Given the description of an element on the screen output the (x, y) to click on. 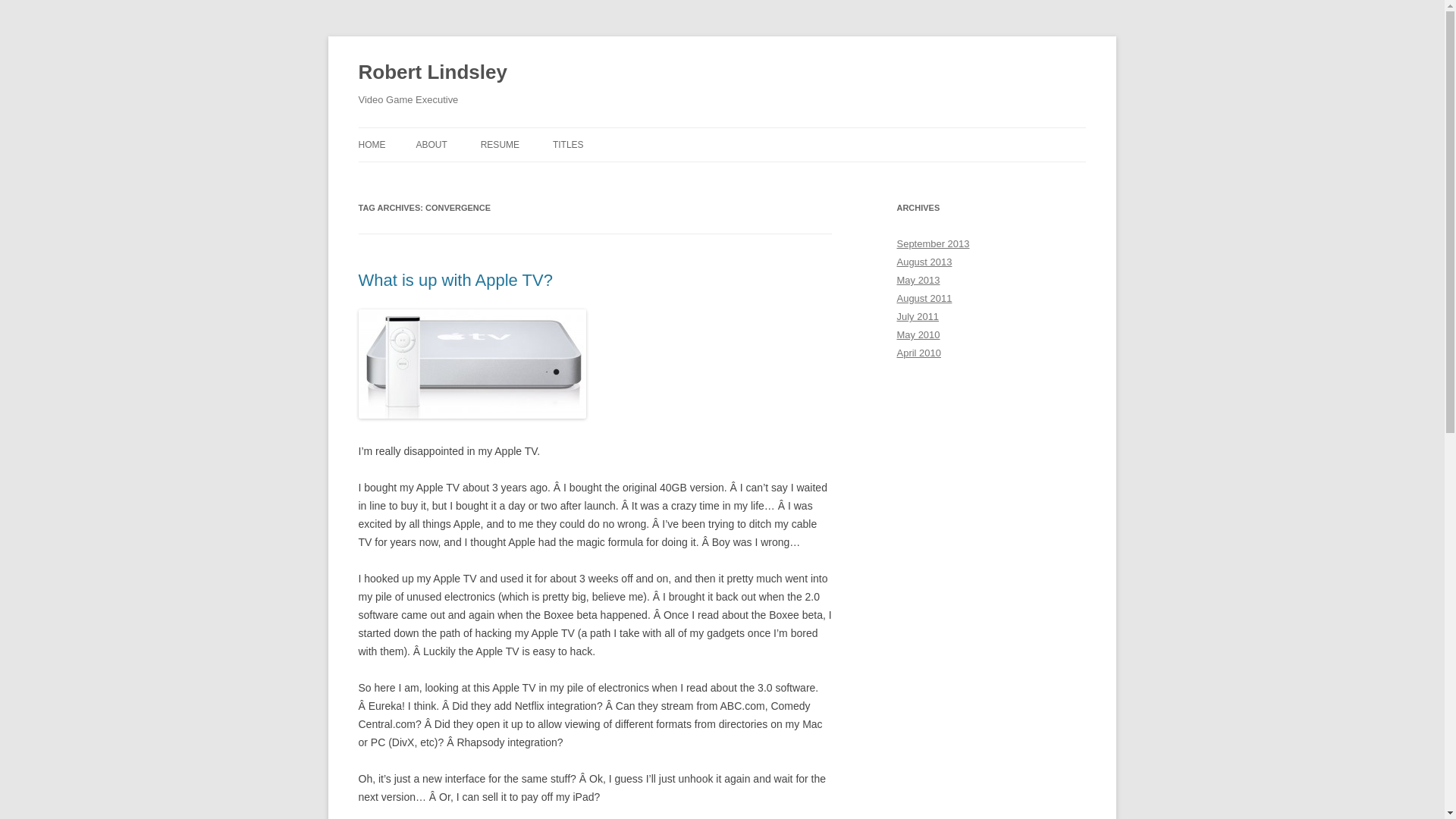
RESUME (499, 144)
September 2013 (932, 243)
April 2010 (918, 352)
ABOUT (430, 144)
Robert Lindsley (432, 72)
August 2013 (924, 261)
TITLES (568, 144)
May 2010 (917, 334)
May 2013 (917, 279)
July 2011 (917, 316)
What is up with Apple TV? (454, 280)
August 2011 (924, 297)
Skip to content (757, 132)
Skip to content (757, 132)
Robert Lindsley (432, 72)
